Given the description of an element on the screen output the (x, y) to click on. 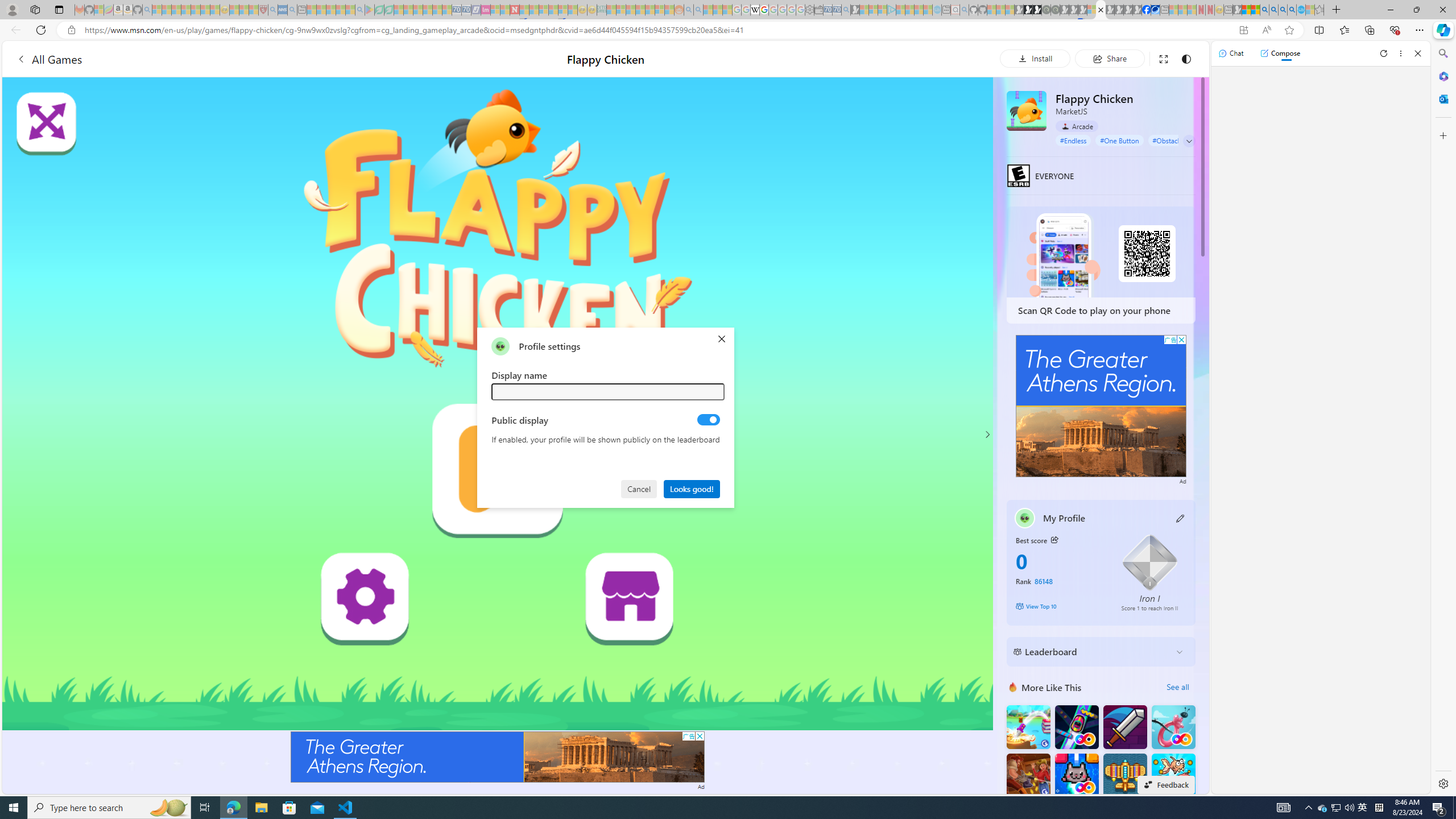
Class: button edit-icon (1180, 517)
Change to dark mode (1185, 58)
Dungeon Master Knight (1124, 726)
MSN - Sleeping (1236, 9)
Saloon Robbery (1028, 775)
